Given the description of an element on the screen output the (x, y) to click on. 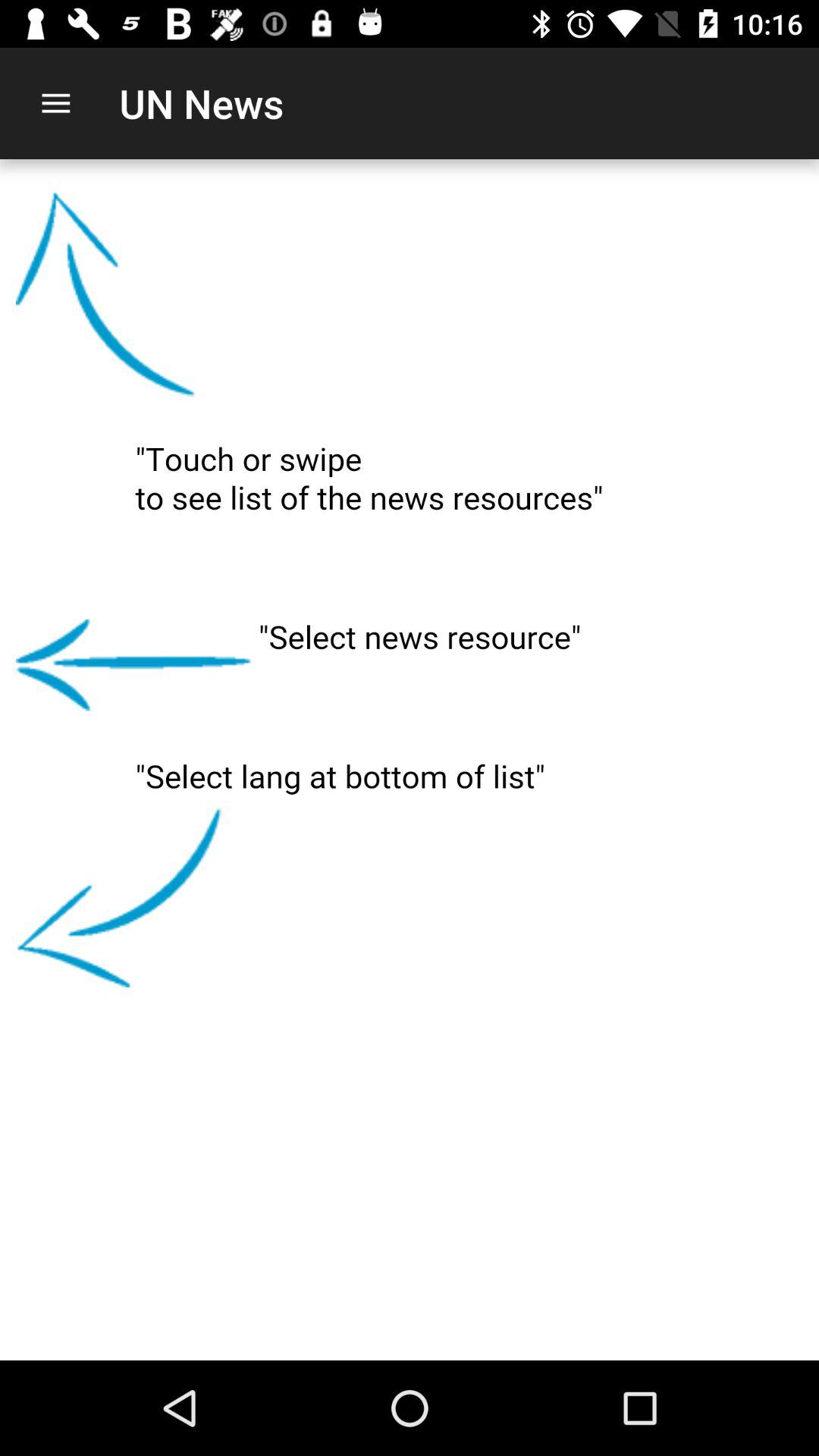
press the icon to the left of the un news (55, 103)
